Given the description of an element on the screen output the (x, y) to click on. 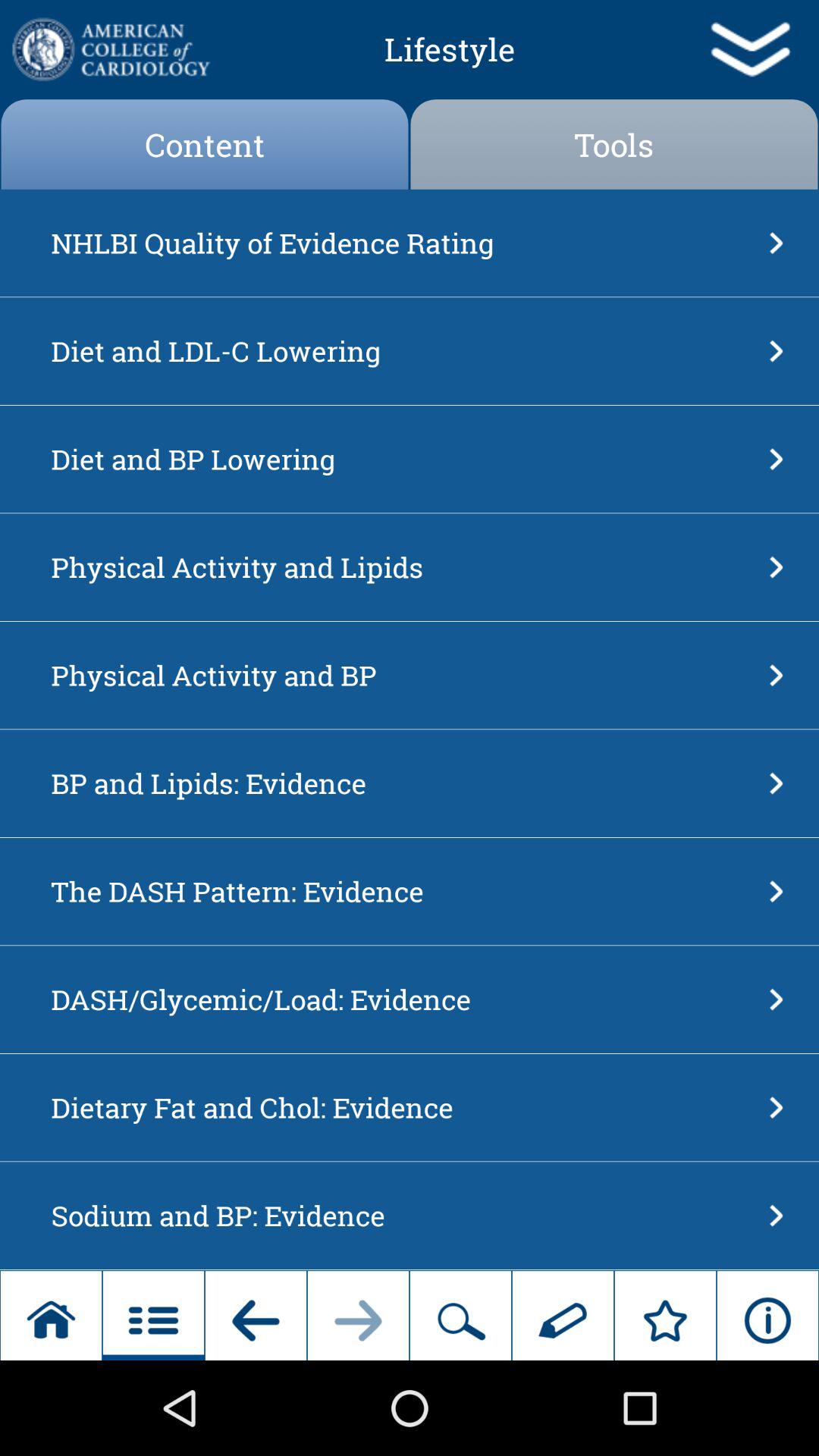
university homepage (109, 49)
